Given the description of an element on the screen output the (x, y) to click on. 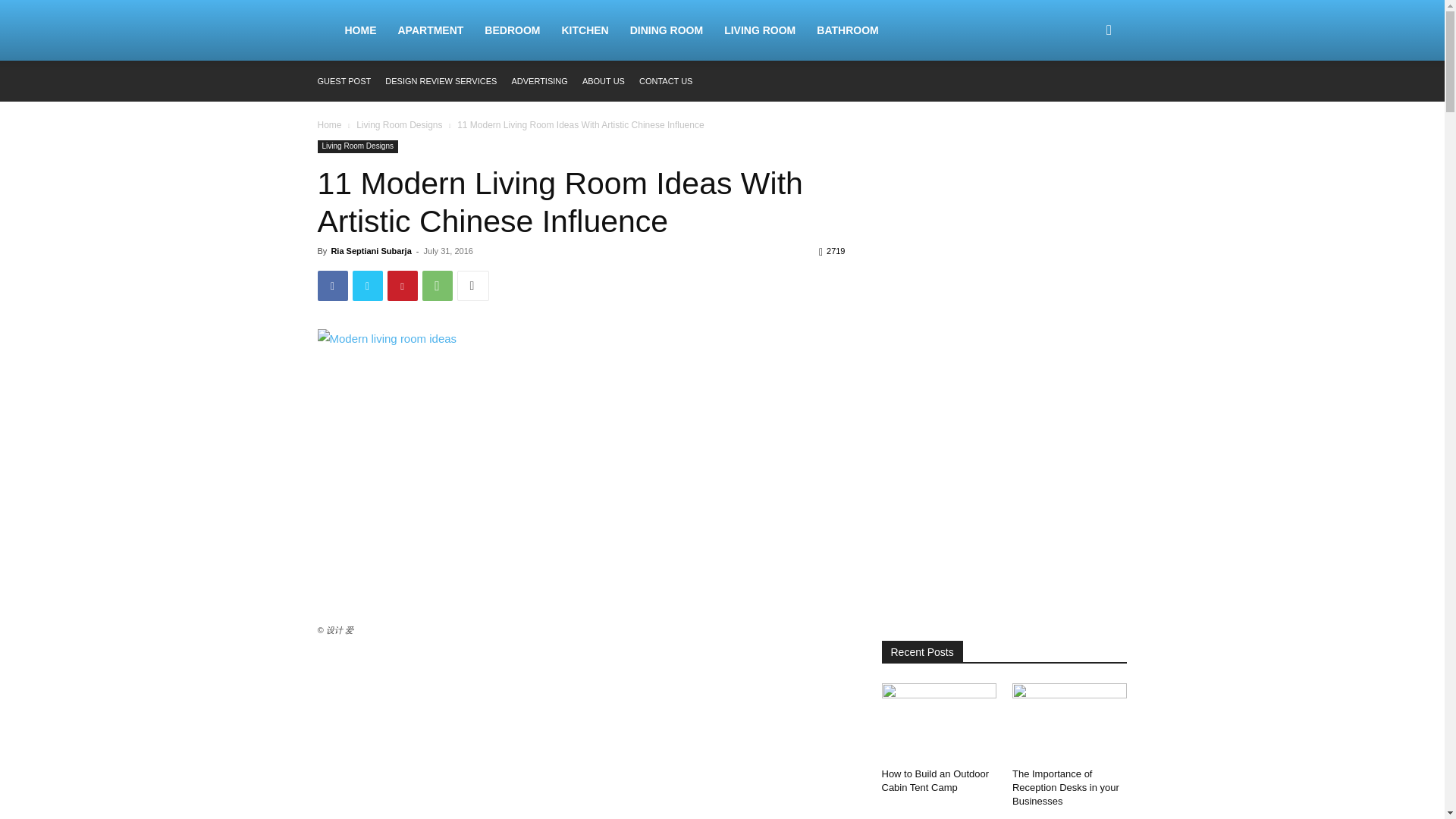
Home (328, 124)
More (472, 286)
DINING ROOM (666, 30)
Living Room Designs (399, 124)
BEDROOM (512, 30)
BATHROOM (847, 30)
KITCHEN (584, 30)
LIVING ROOM (759, 30)
APARTMENT (430, 30)
Pinterest (401, 286)
Living Room Designs (357, 146)
ADVERTISING (539, 80)
DESIGN REVIEW SERVICES (440, 80)
Facebook (332, 286)
